Given the description of an element on the screen output the (x, y) to click on. 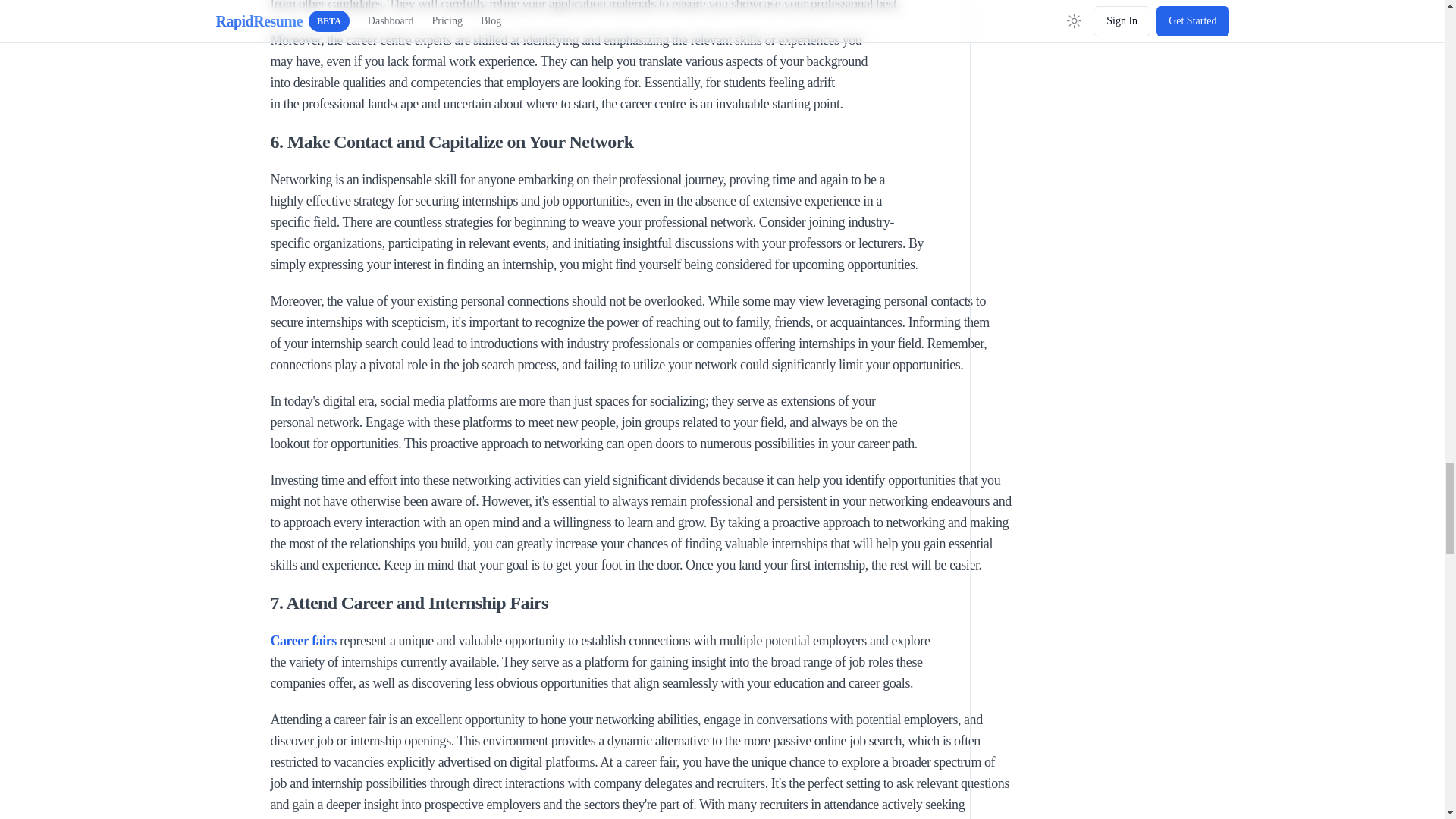
7. Attend Career and Internship Fairs (657, 602)
Career fairs (302, 640)
6. Make Contact and Capitalize on Your Network (657, 141)
